Given the description of an element on the screen output the (x, y) to click on. 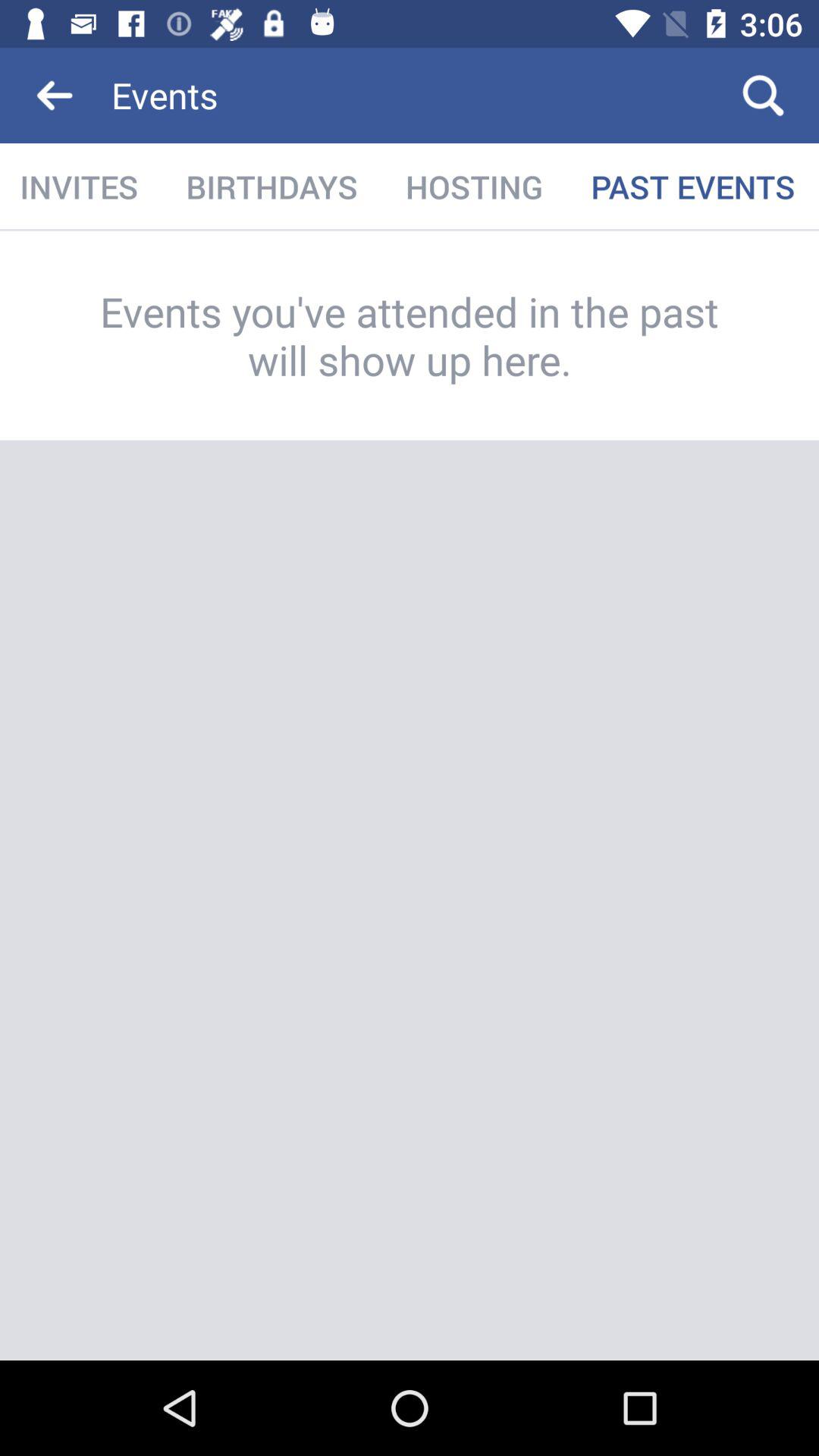
open hosting item (474, 186)
